Given the description of an element on the screen output the (x, y) to click on. 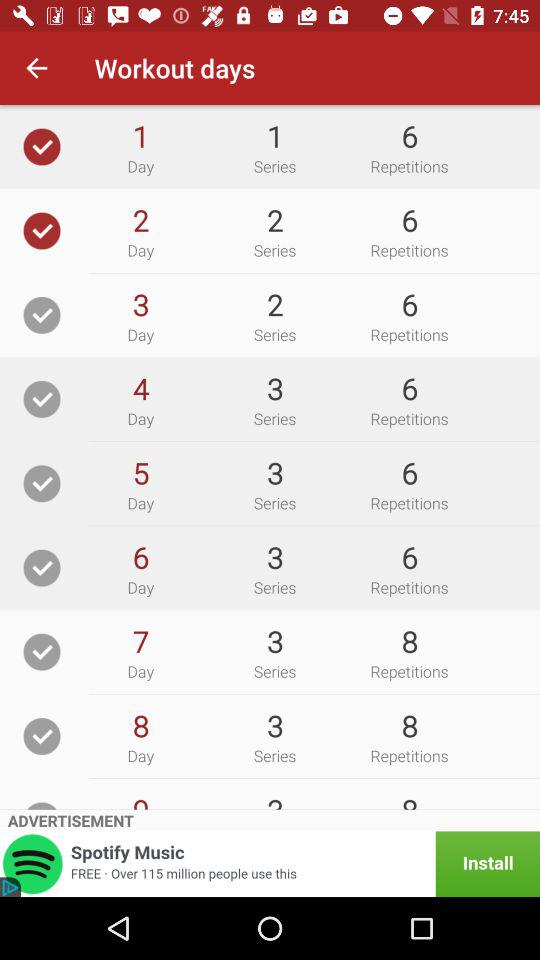
check to finish day (41, 230)
